Given the description of an element on the screen output the (x, y) to click on. 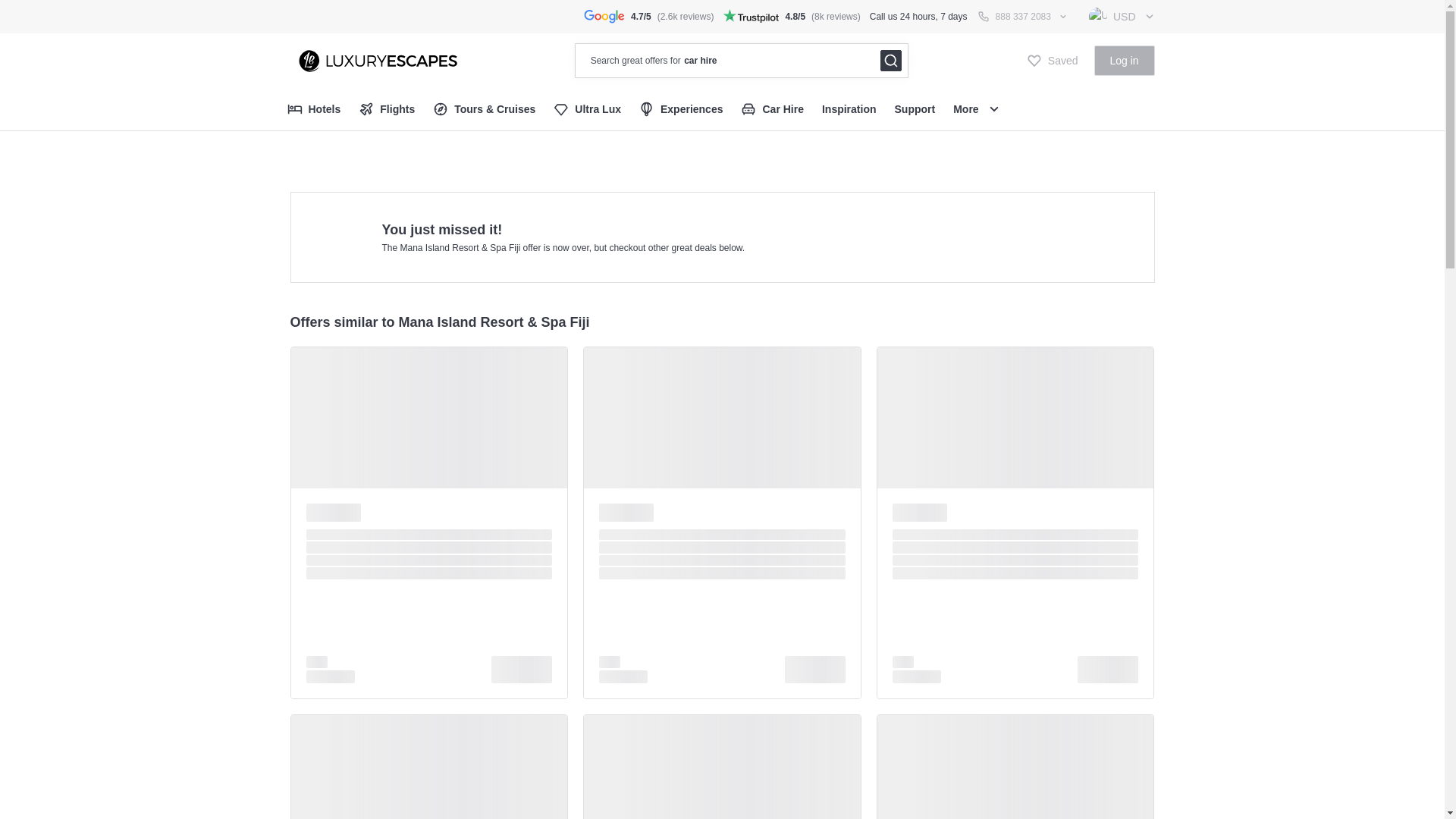
888 337 2083 (1023, 16)
USD (1122, 16)
Luxury Escapes (373, 59)
